Given the description of an element on the screen output the (x, y) to click on. 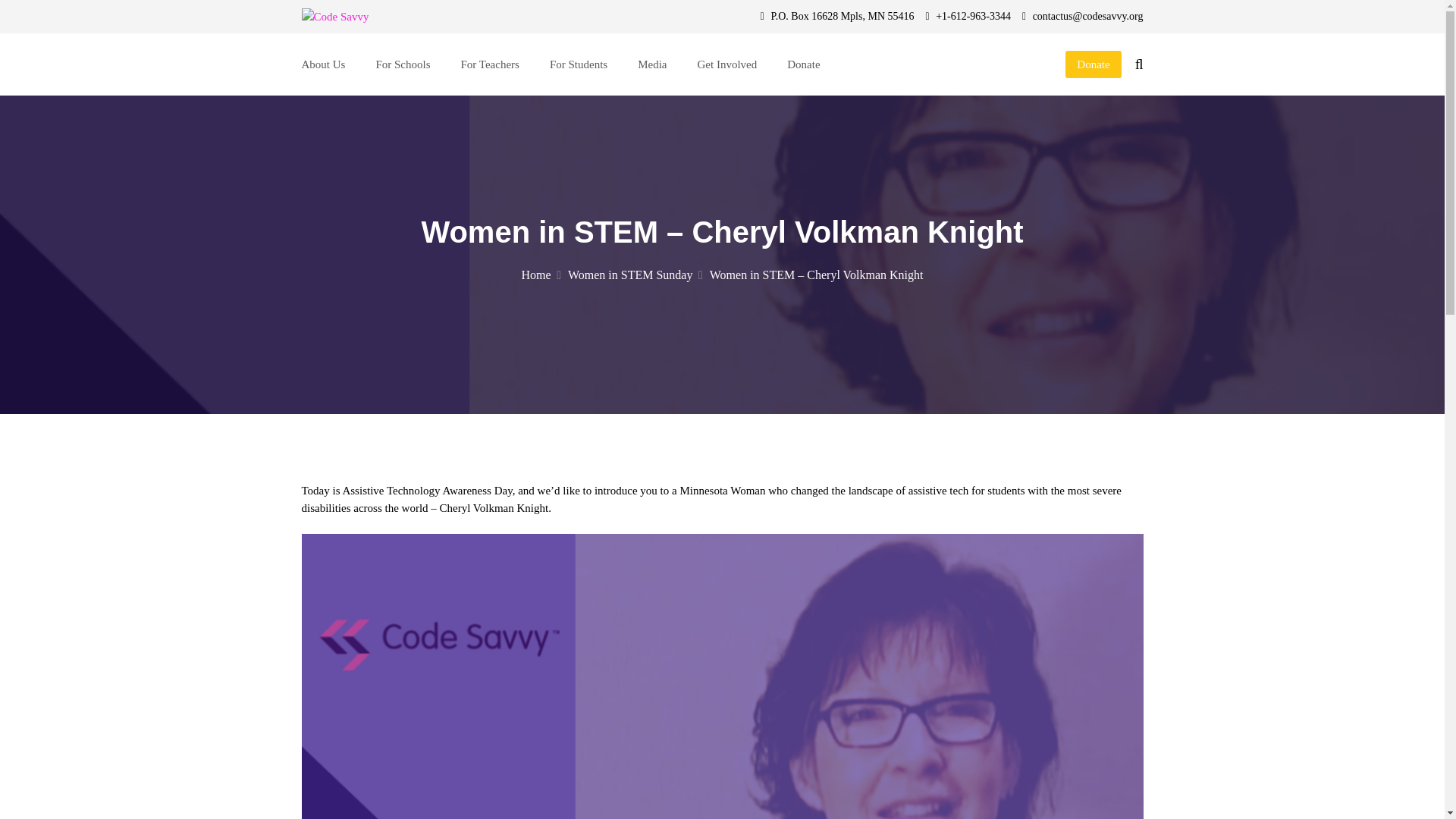
For Teachers (490, 64)
Donate (803, 64)
For Students (578, 64)
Media (651, 64)
Donate (1093, 64)
Get Involved (727, 64)
Code Savvy (365, 42)
For Schools (402, 64)
About Us (323, 64)
